Given the description of an element on the screen output the (x, y) to click on. 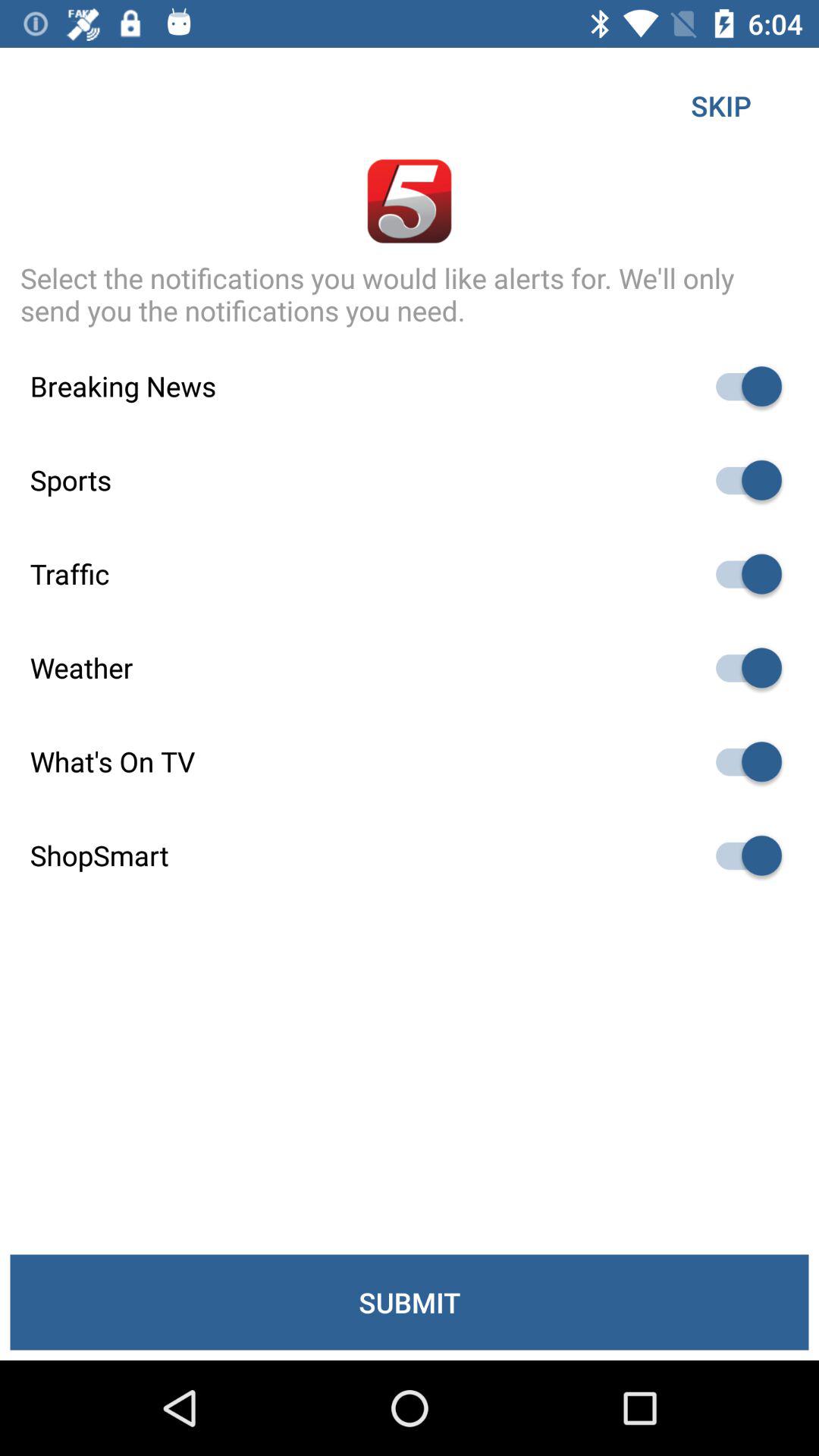
click submit (409, 1302)
